Given the description of an element on the screen output the (x, y) to click on. 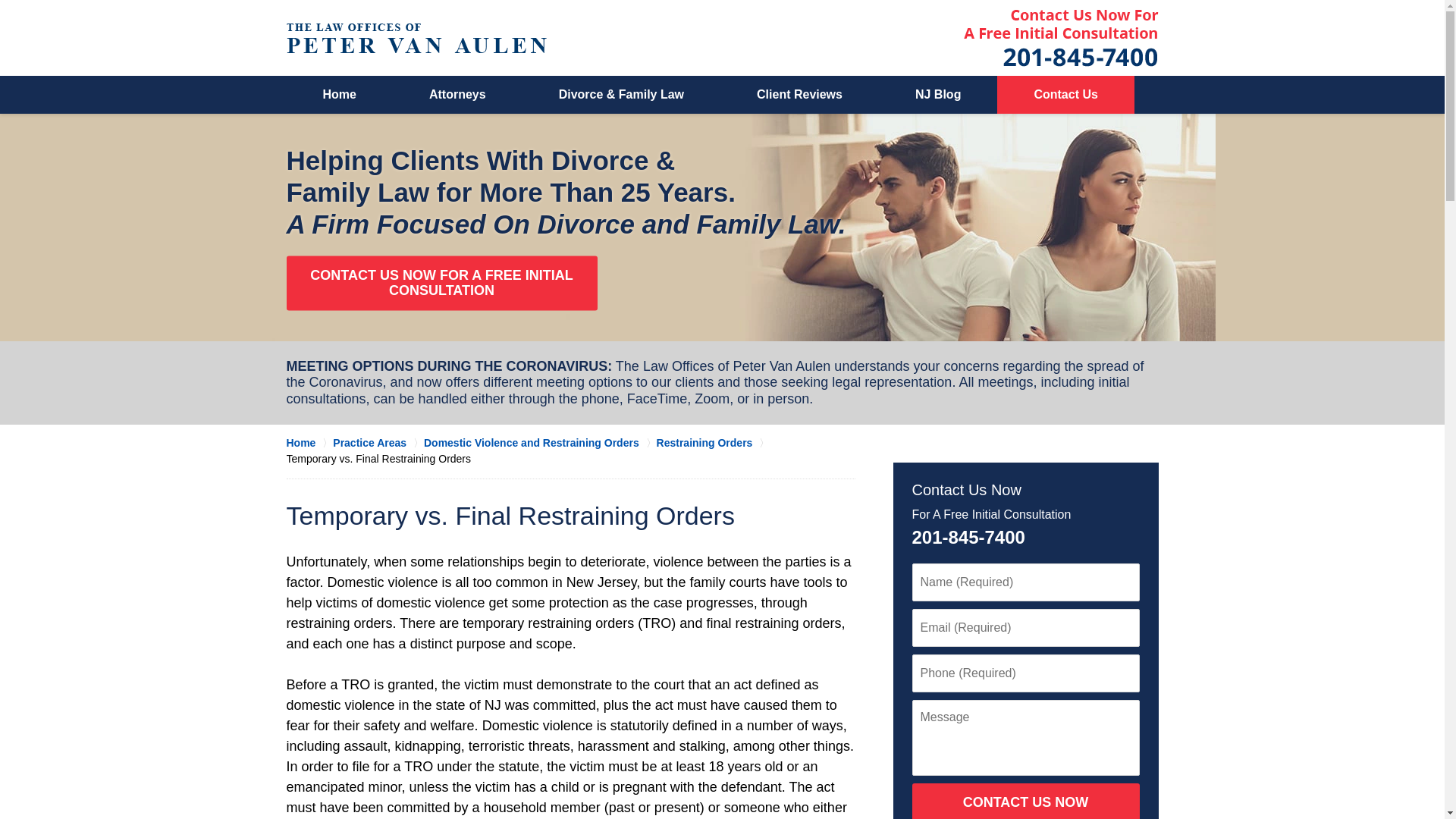
Contact Us (1065, 94)
CONTACT US NOW FOR A FREE INITIAL CONSULTATION (441, 283)
CONTACT US NOW (1024, 800)
NJ Blog (938, 94)
Home (309, 442)
Home (339, 94)
Domestic Violence and Restraining Orders (539, 442)
The Law Offices of Peter Van Aulen Home (416, 37)
Restraining Orders (713, 442)
Back to Home (416, 37)
